Given the description of an element on the screen output the (x, y) to click on. 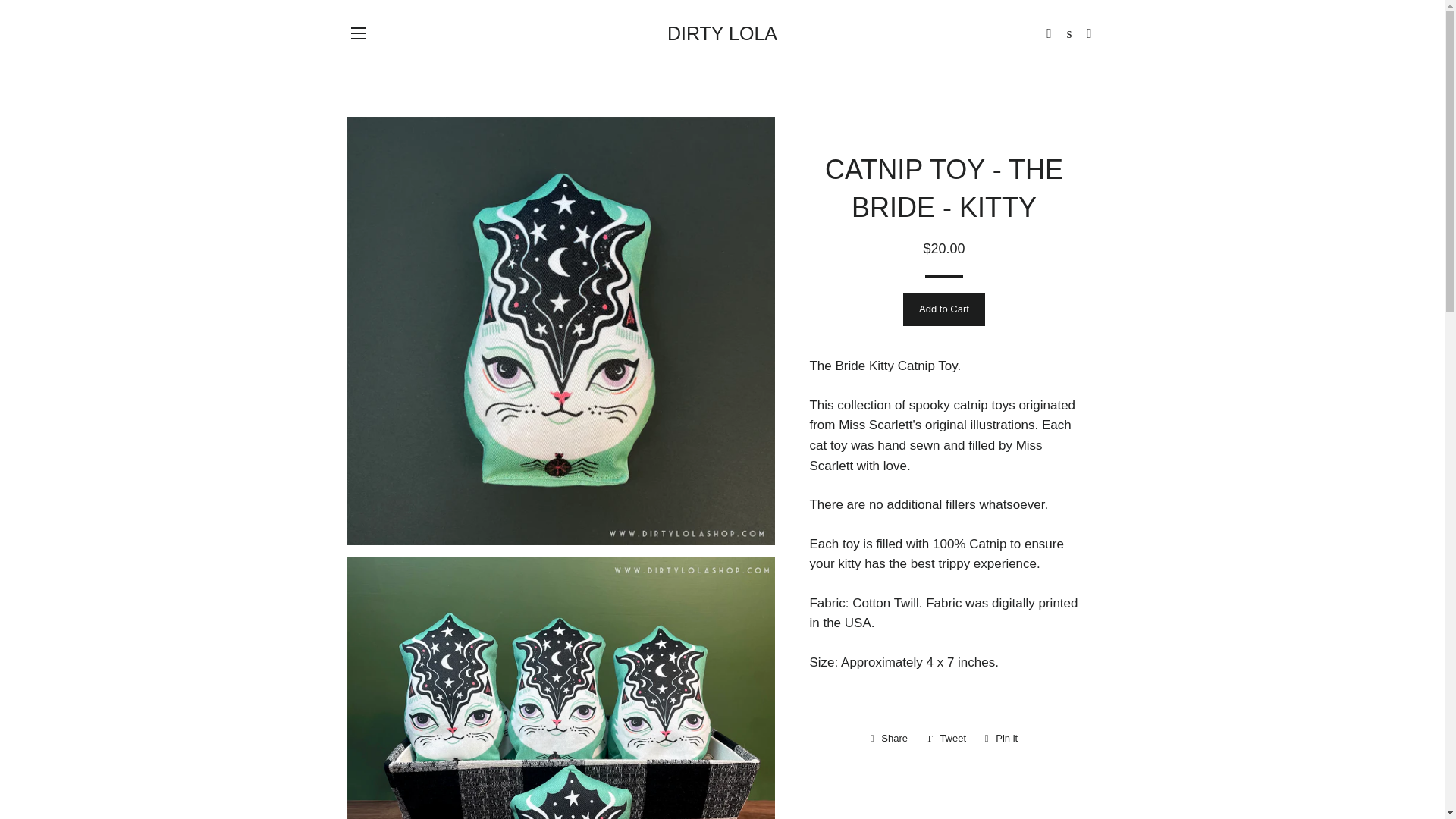
DIRTY LOLA (721, 33)
Site navigation (946, 738)
Add to Cart (358, 33)
Tweet on Twitter (943, 308)
Pin on Pinterest (1000, 738)
Share on Facebook (946, 738)
